Given the description of an element on the screen output the (x, y) to click on. 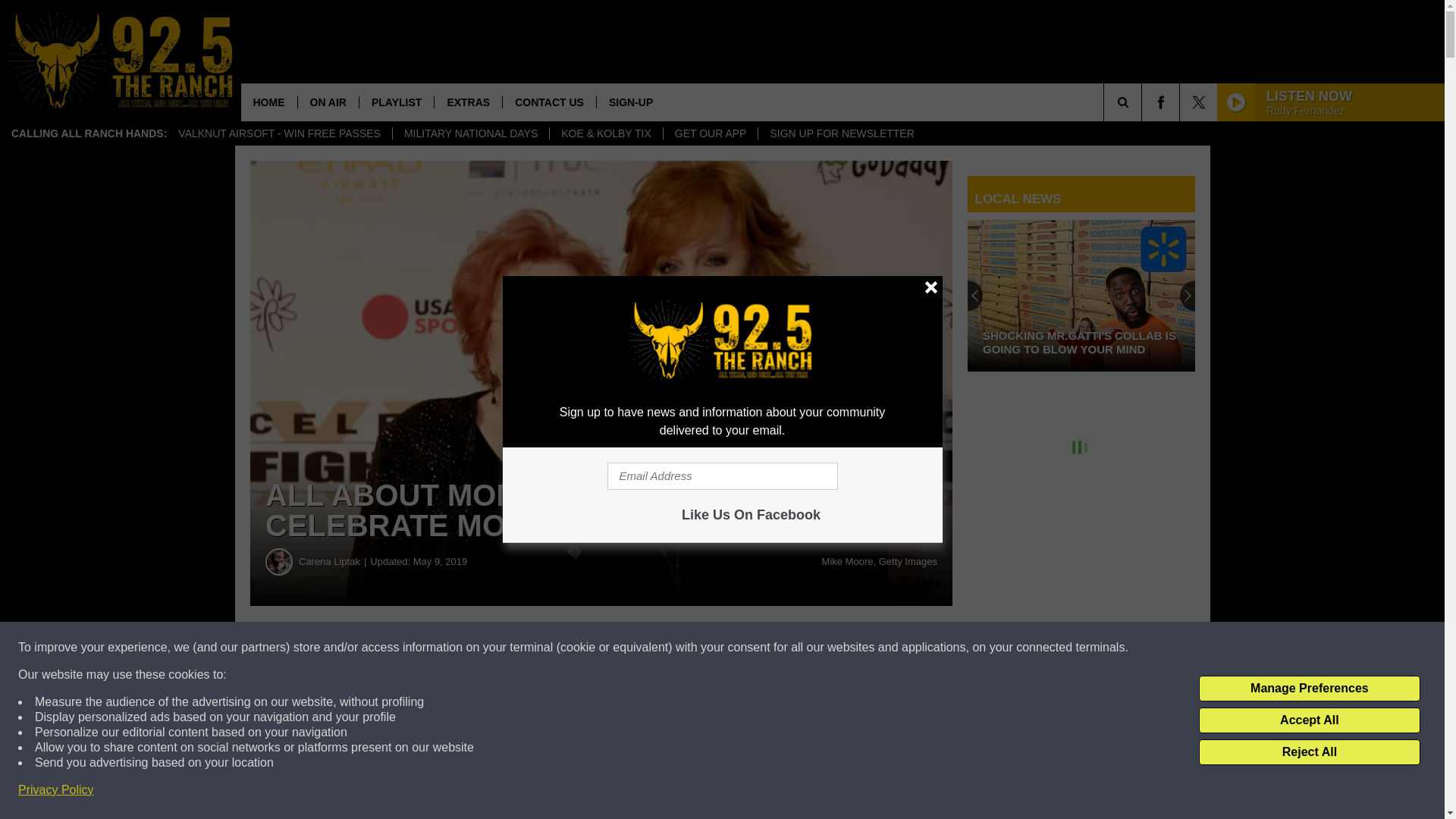
Reject All (1309, 751)
Email Address (722, 475)
VALKNUT AIRSOFT - WIN FREE PASSES (279, 133)
GET OUR APP (710, 133)
Share on Twitter (741, 647)
SIGN UP FOR NEWSLETTER (840, 133)
HOME (269, 102)
SEARCH (1144, 102)
ON AIR (327, 102)
Share on Facebook (460, 647)
MILITARY NATIONAL DAYS (469, 133)
Privacy Policy (55, 789)
Manage Preferences (1309, 688)
SIGN-UP (630, 102)
CONTACT US (548, 102)
